Given the description of an element on the screen output the (x, y) to click on. 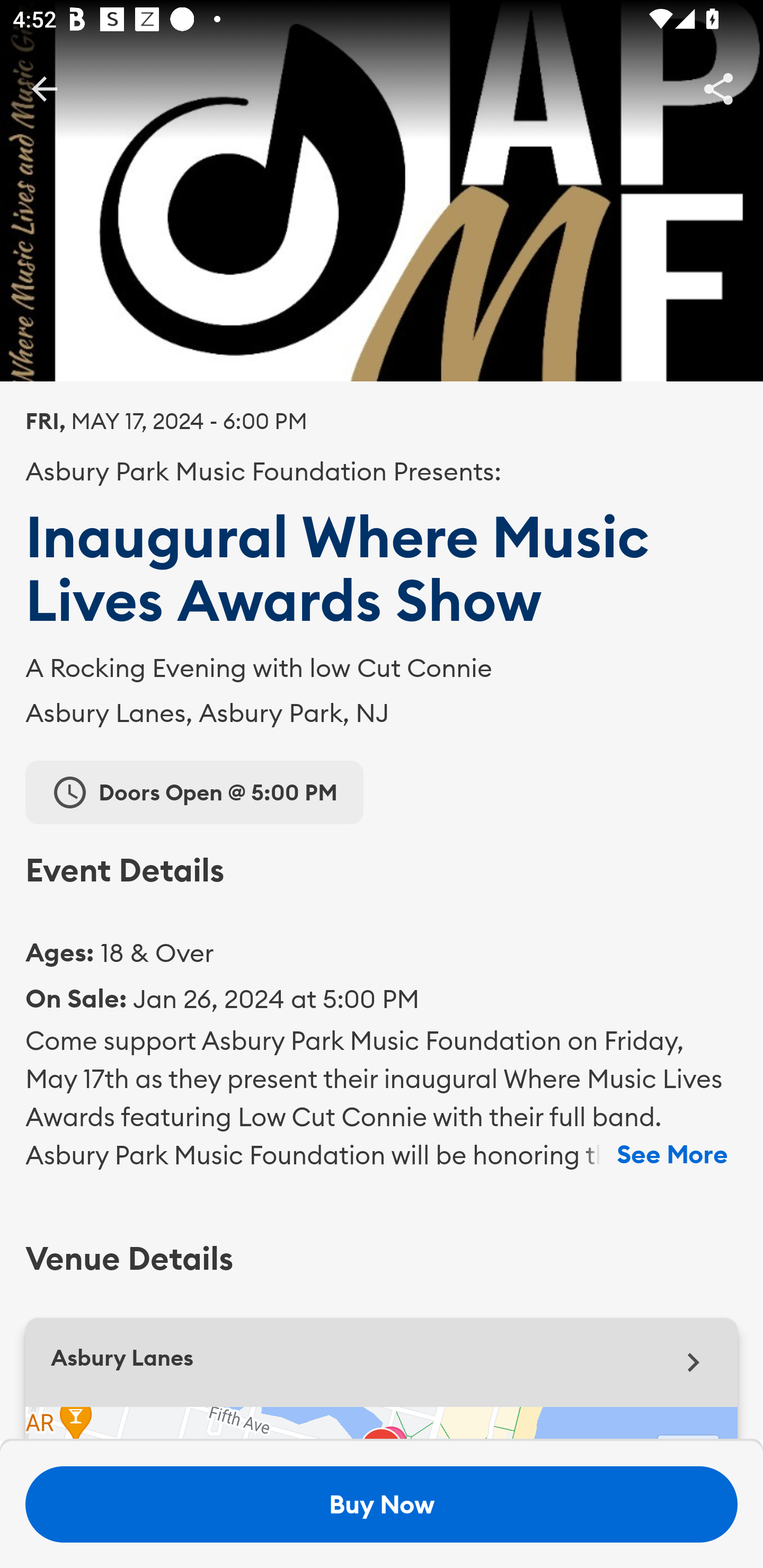
BackButton (44, 88)
Share (718, 88)
See More (671, 1154)
Asbury Lanes (381, 1362)
Buy Now (381, 1504)
